Given the description of an element on the screen output the (x, y) to click on. 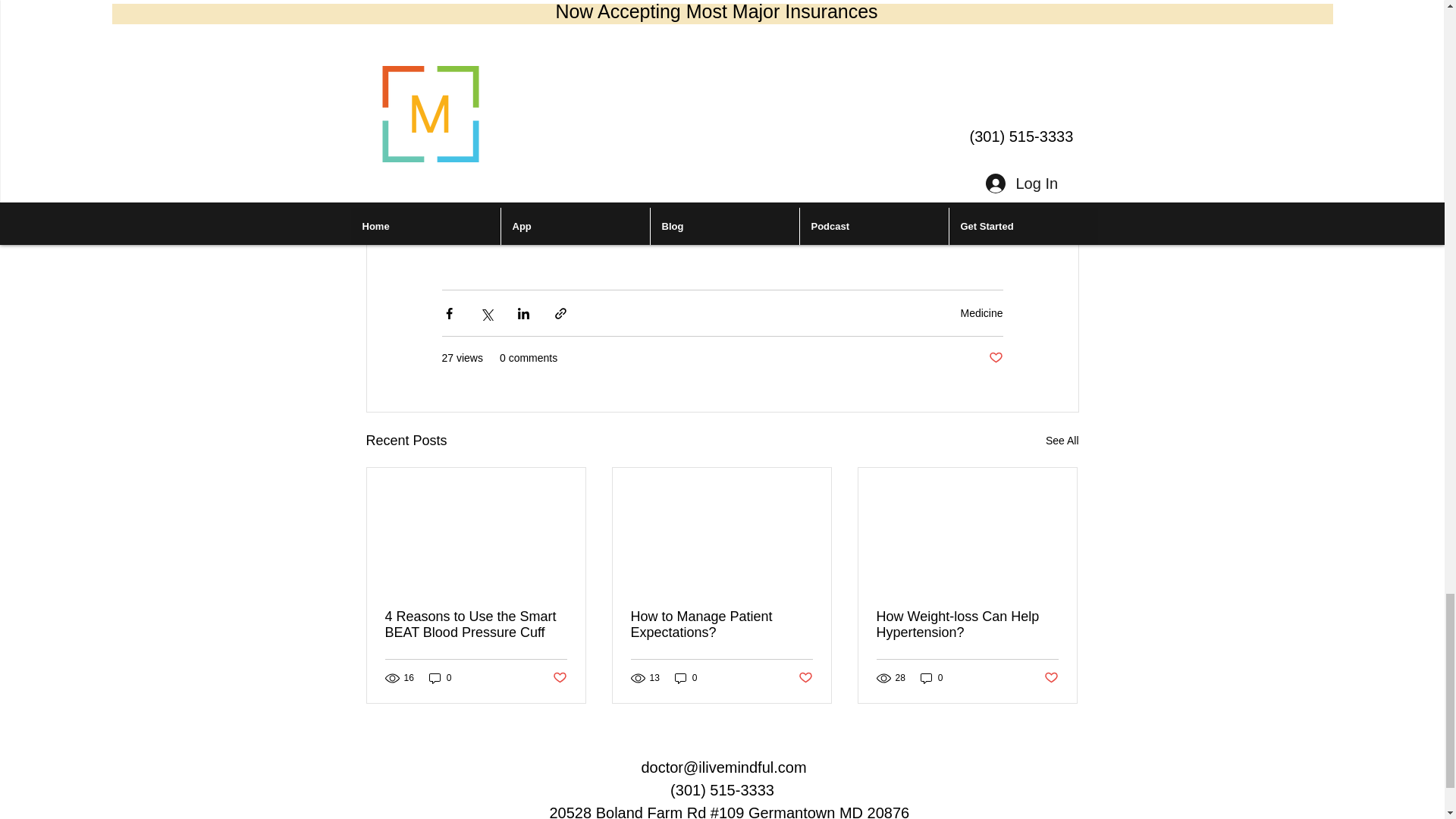
0 (440, 677)
How to Manage Patient Expectations? (721, 624)
4 Reasons to Use the Smart BEAT Blood Pressure Cuff (476, 624)
Medicine (981, 313)
0 (685, 677)
Post not marked as liked (1050, 678)
Post not marked as liked (995, 358)
0 (931, 677)
Post not marked as liked (558, 678)
Post not marked as liked (804, 678)
